Given the description of an element on the screen output the (x, y) to click on. 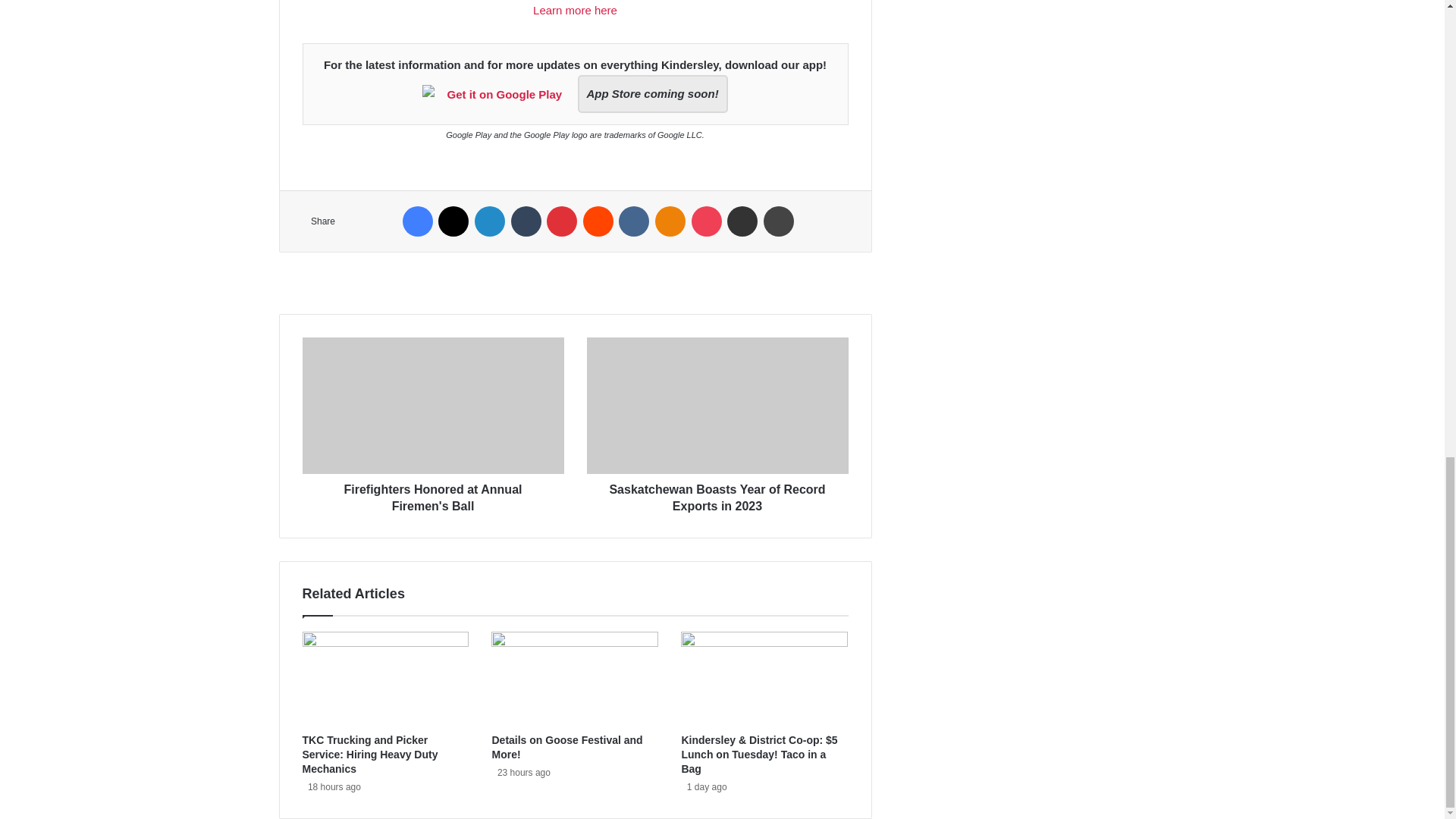
X (453, 221)
LinkedIn (489, 221)
Tumblr (526, 221)
Reddit (597, 221)
VKontakte (633, 221)
Facebook (417, 221)
Pocket (706, 221)
Odnoklassniki (670, 221)
Pinterest (561, 221)
